Given the description of an element on the screen output the (x, y) to click on. 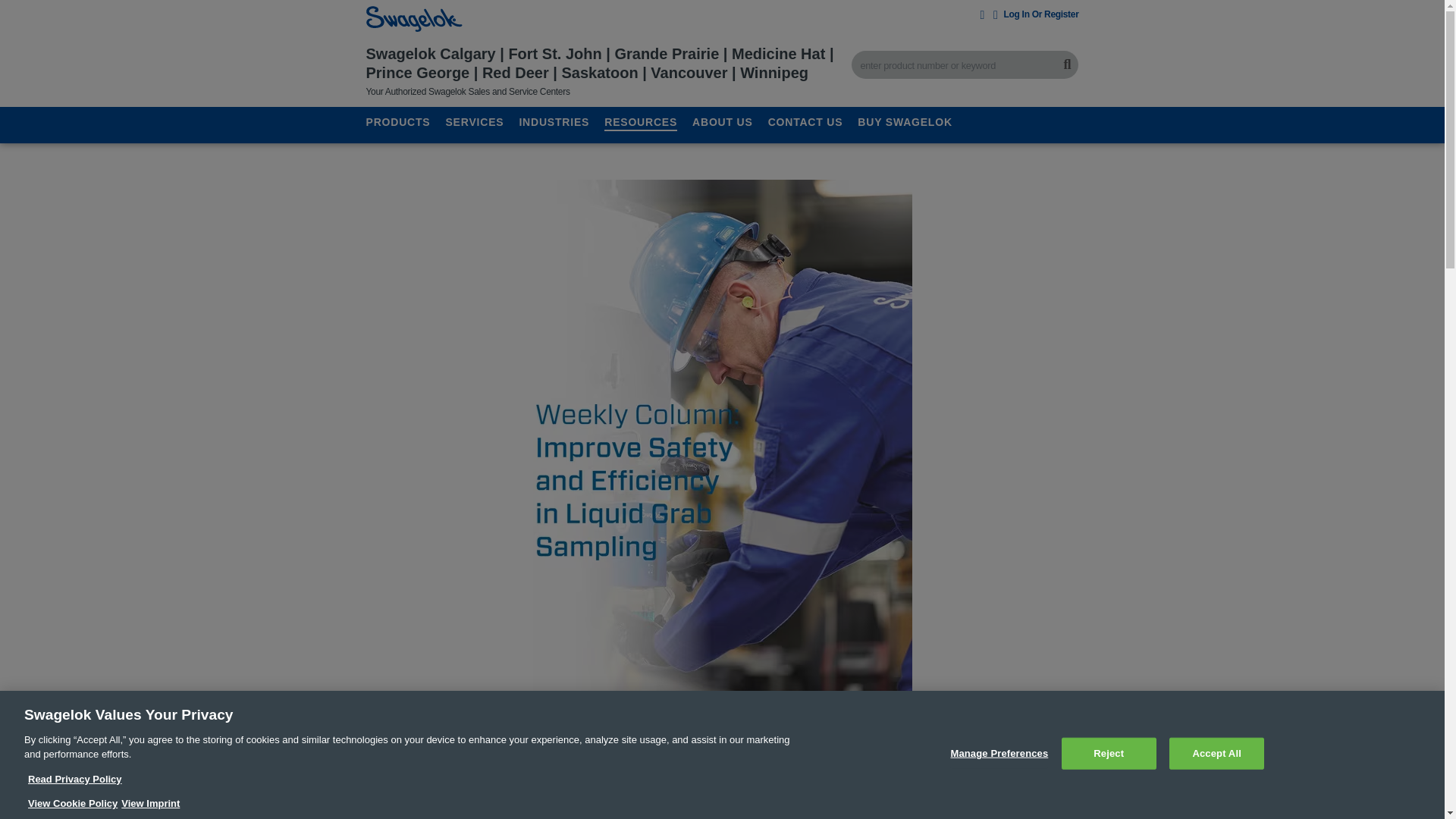
Log In Or Register (1035, 14)
INDUSTRIES (553, 121)
SERVICES (474, 121)
PRODUCTS (397, 121)
